Given the description of an element on the screen output the (x, y) to click on. 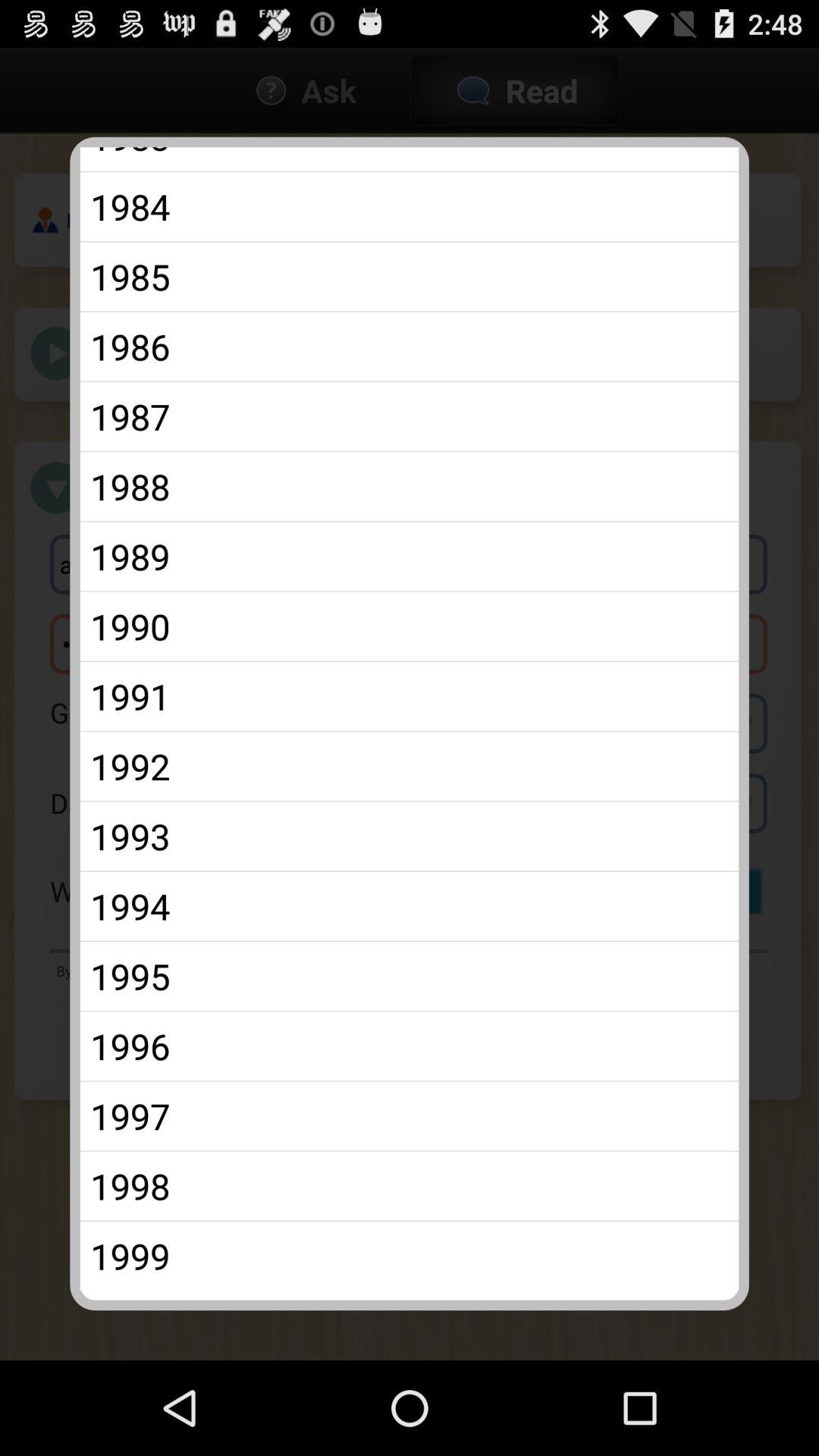
select the 1991 icon (409, 696)
